Given the description of an element on the screen output the (x, y) to click on. 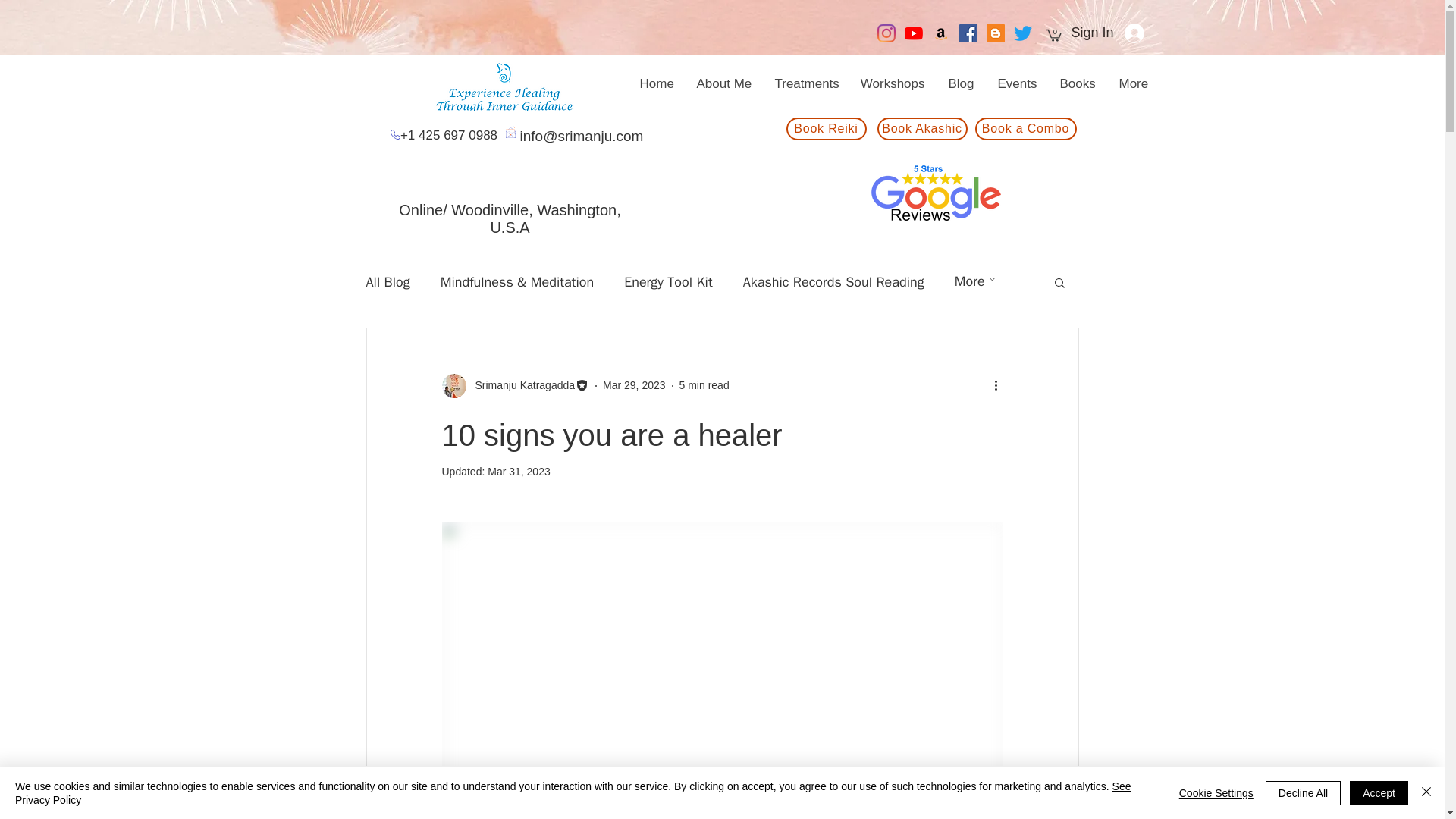
Book Reiki (826, 128)
Books (1077, 83)
Events (1016, 83)
Book Akashic (921, 128)
Experience Healing with Srimanju (506, 83)
Home (655, 83)
Treatments (805, 83)
5 min read (704, 385)
Srimanju Katragadda (520, 385)
Sign In (1106, 32)
Book a Combo (1026, 128)
0 (1053, 34)
About Me (722, 83)
Mar 31, 2023 (518, 471)
0 (1053, 34)
